Given the description of an element on the screen output the (x, y) to click on. 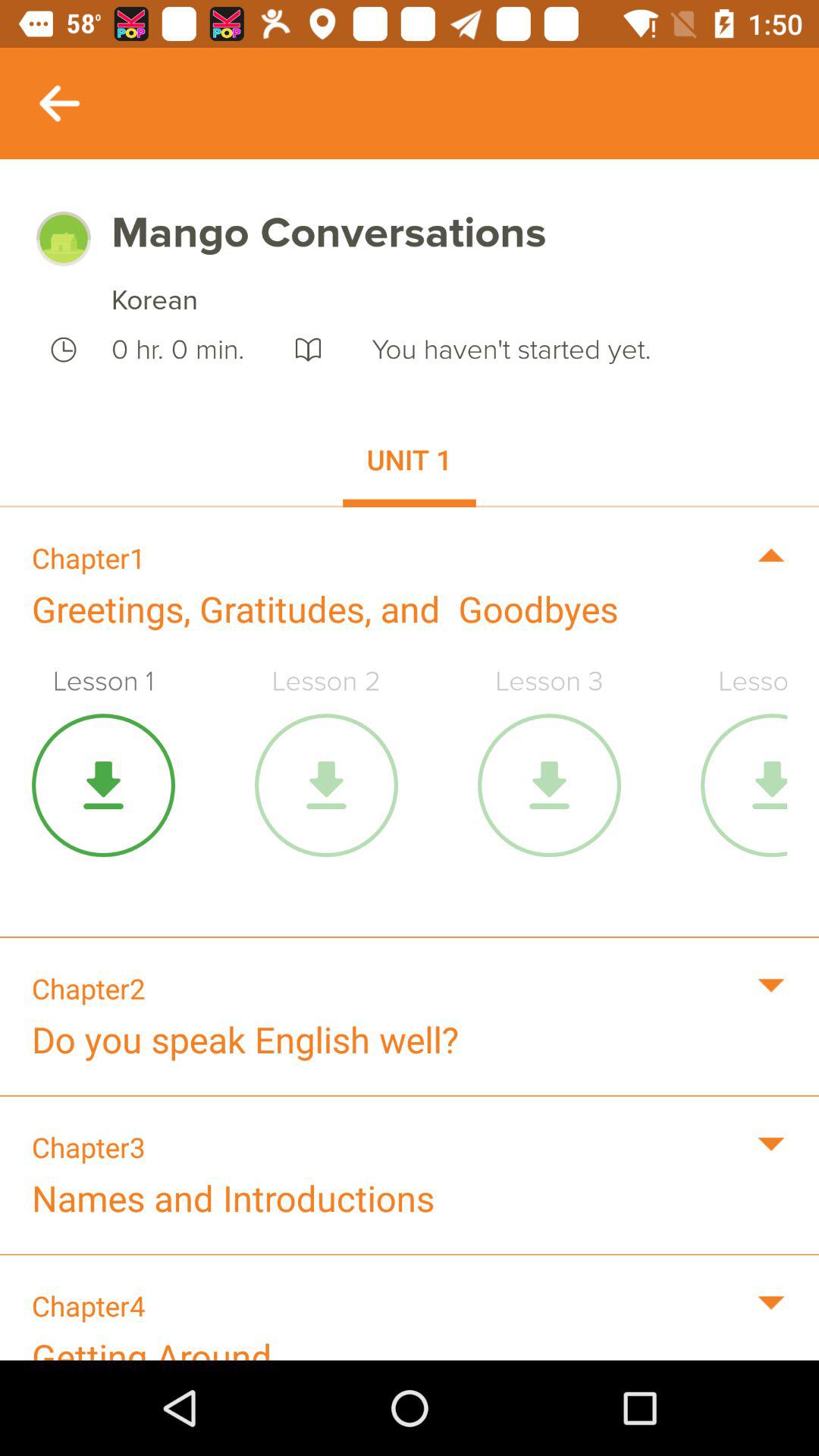
go back (59, 103)
